Given the description of an element on the screen output the (x, y) to click on. 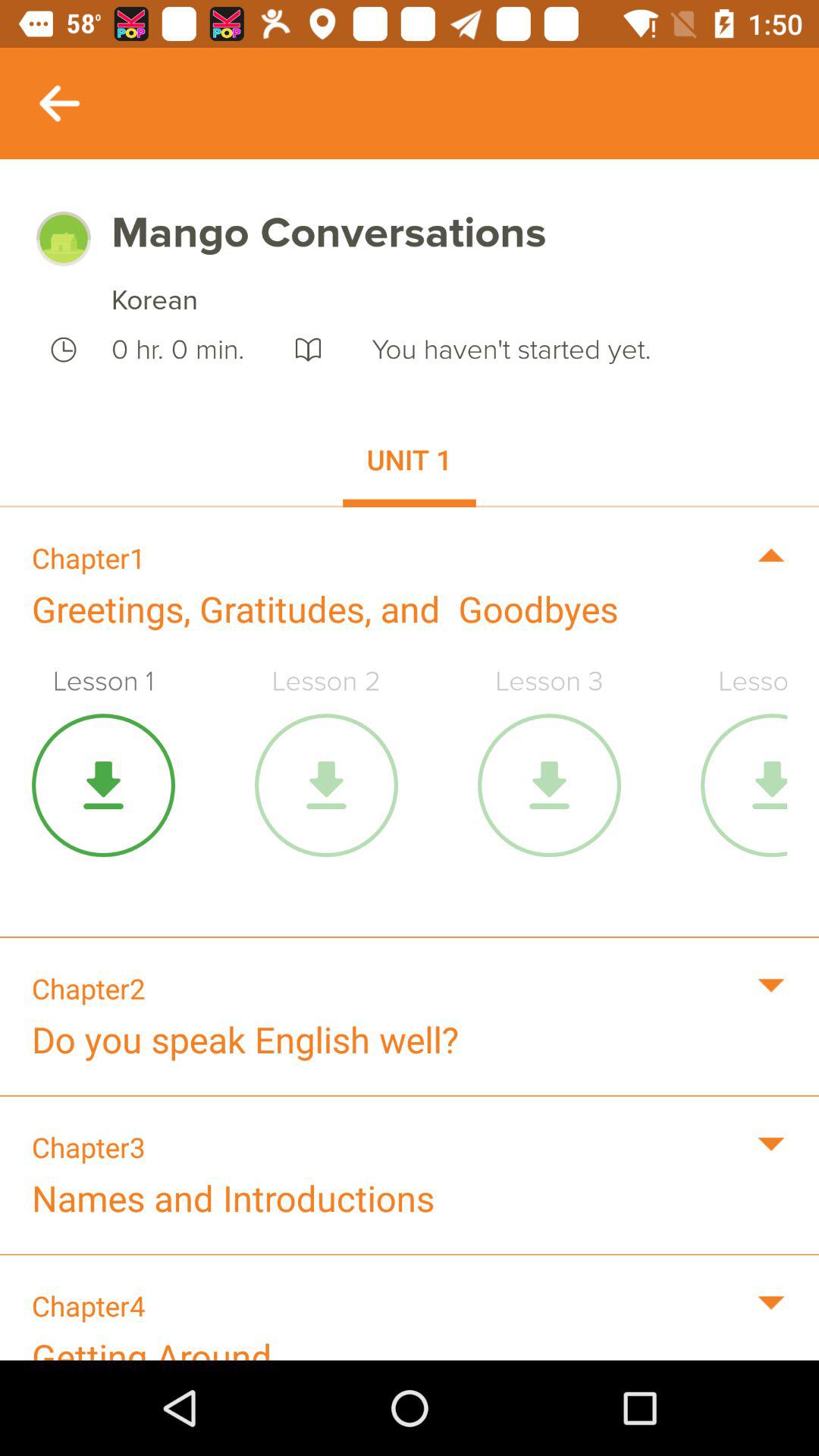
go back (59, 103)
